Given the description of an element on the screen output the (x, y) to click on. 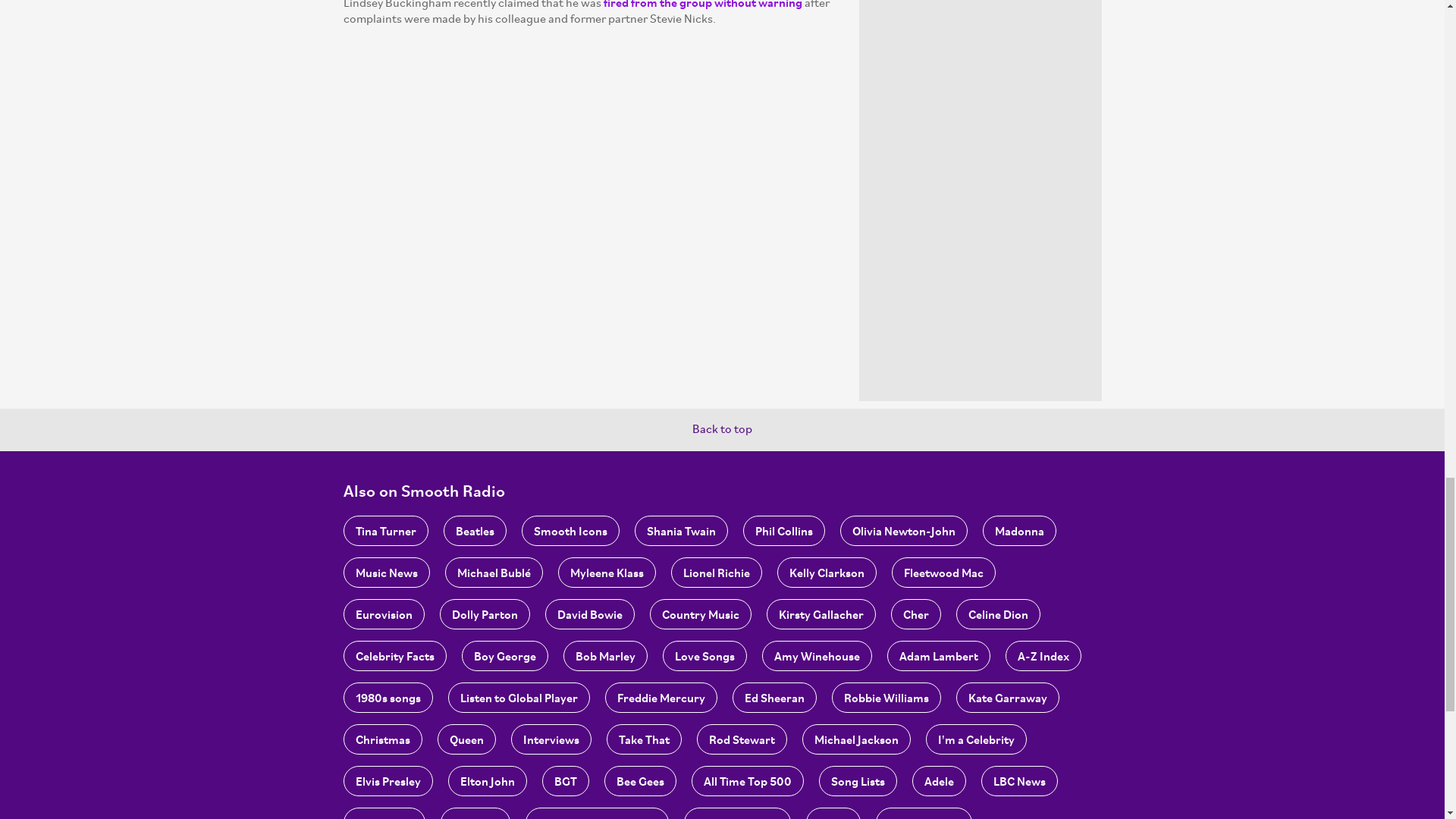
fired from the group without warning (703, 5)
Back to top (722, 429)
